Given the description of an element on the screen output the (x, y) to click on. 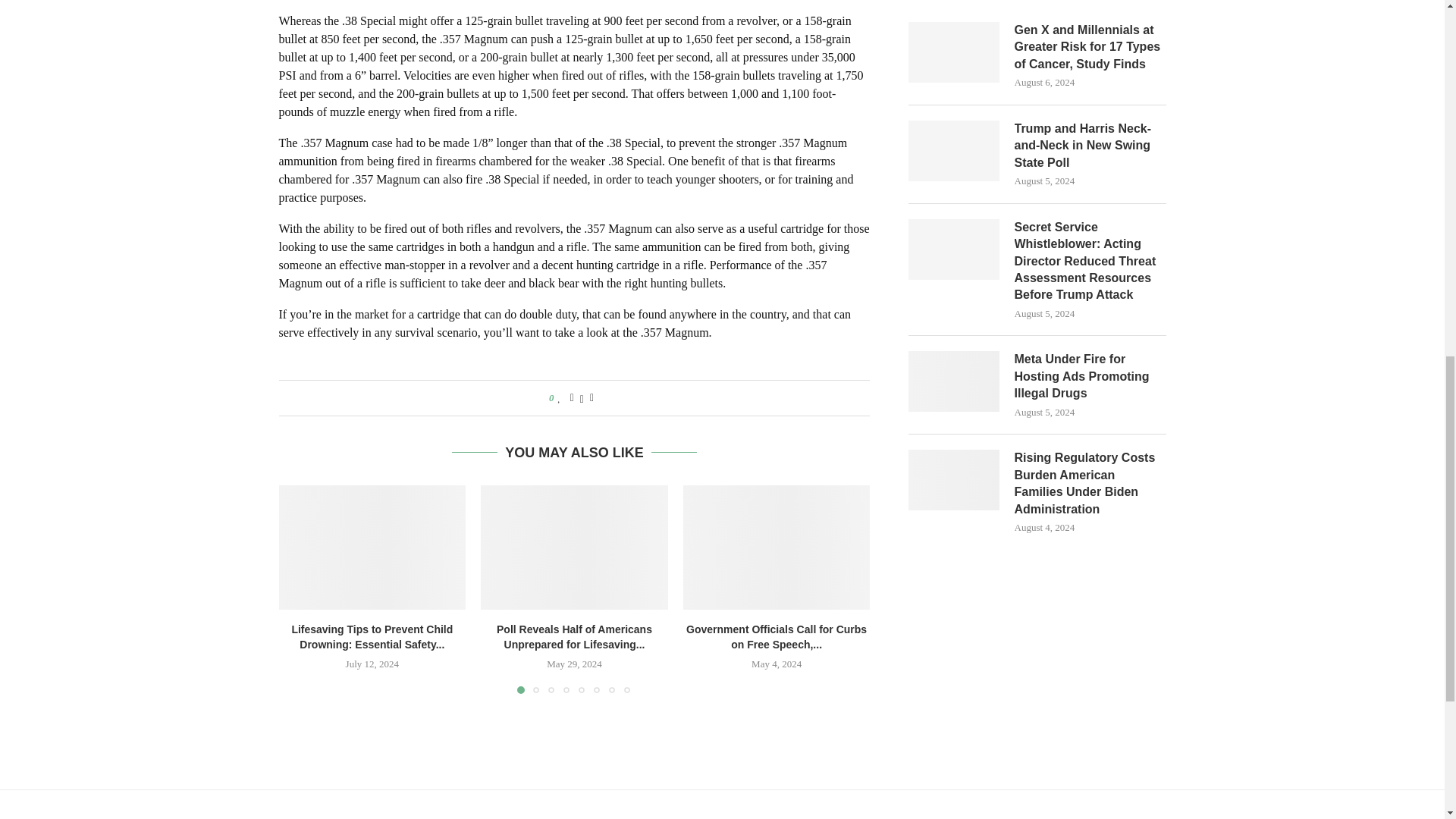
Trump and Harris Neck-and-Neck in New Swing State Poll (953, 150)
Poll Reveals Half of Americans Unprepared for Lifesaving... (574, 636)
Trump and Harris Neck-and-Neck in New Swing State Poll (1090, 145)
Like (558, 398)
